Given the description of an element on the screen output the (x, y) to click on. 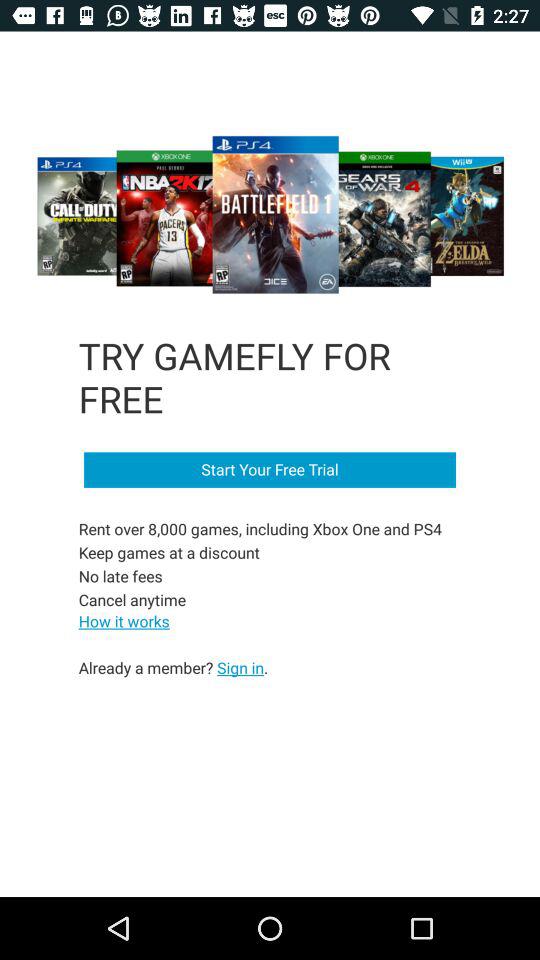
swipe to already a member icon (173, 667)
